Given the description of an element on the screen output the (x, y) to click on. 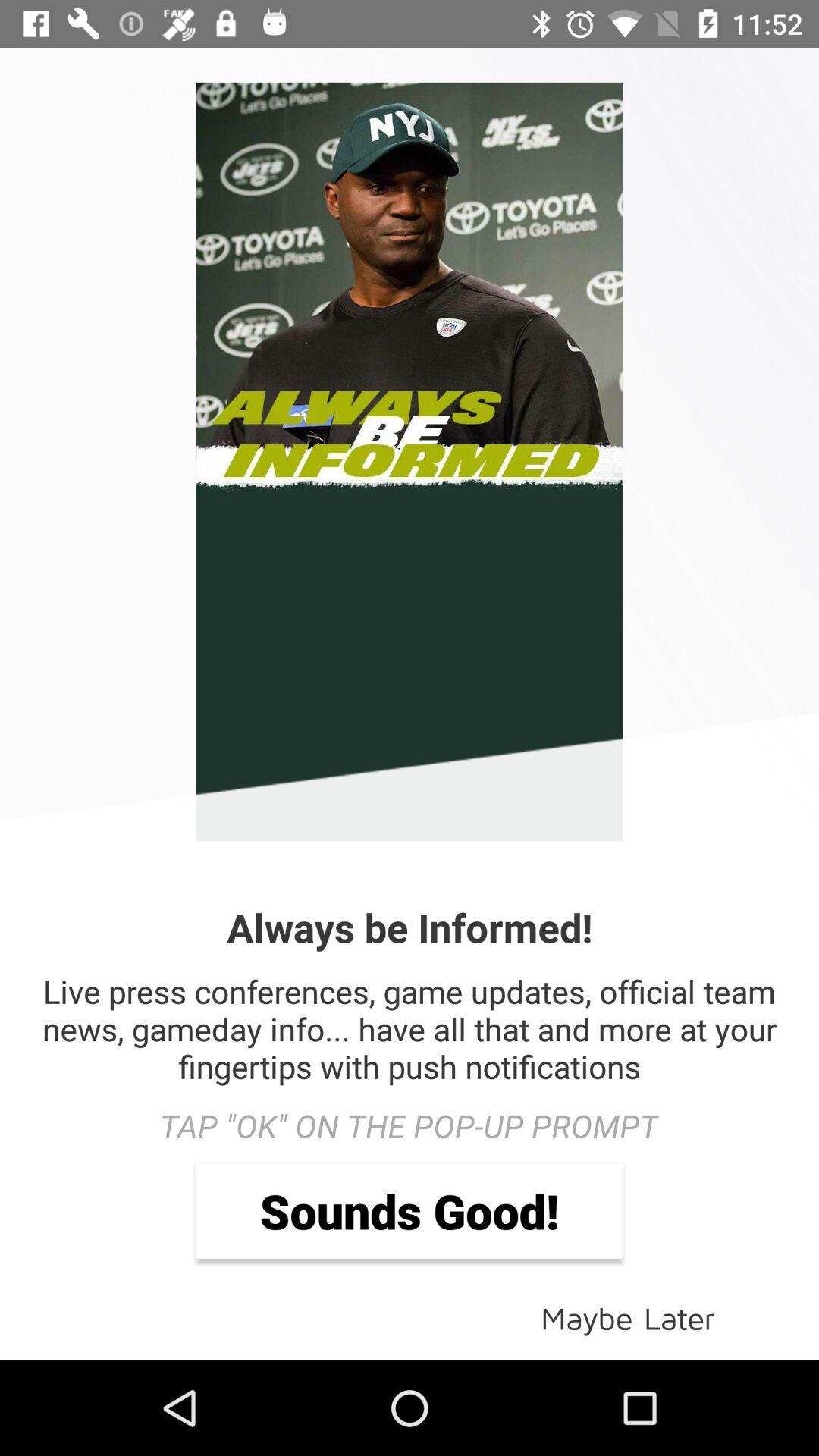
choose the sounds good! icon (409, 1210)
